Given the description of an element on the screen output the (x, y) to click on. 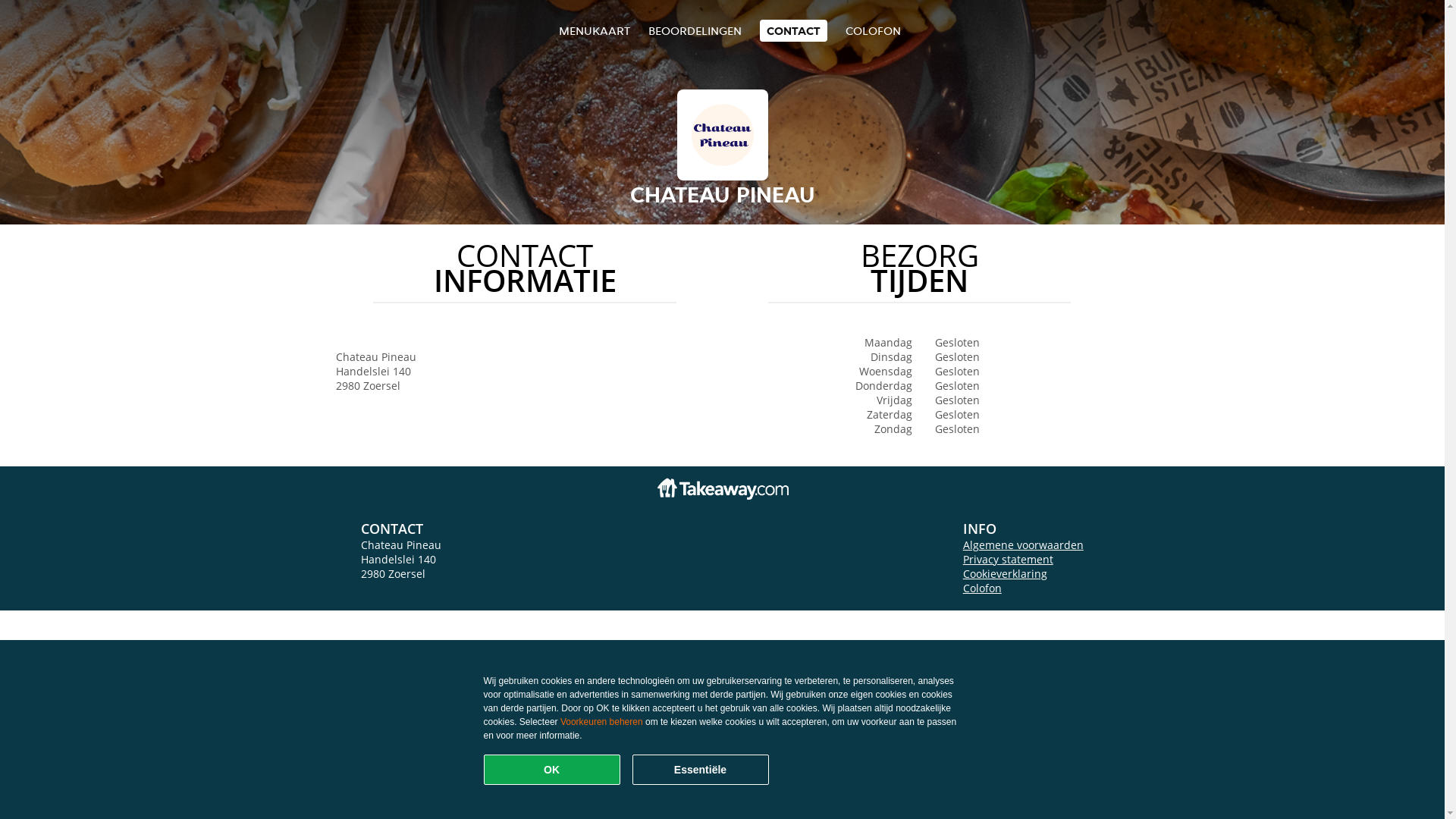
COLOFON Element type: text (872, 30)
MENUKAART Element type: text (594, 30)
Algemene voorwaarden Element type: text (1023, 544)
CONTACT Element type: text (793, 30)
OK Element type: text (551, 769)
Colofon Element type: text (982, 587)
Cookieverklaring Element type: text (1005, 573)
BEOORDELINGEN Element type: text (694, 30)
Voorkeuren beheren Element type: text (601, 721)
Privacy statement Element type: text (1008, 559)
